Given the description of an element on the screen output the (x, y) to click on. 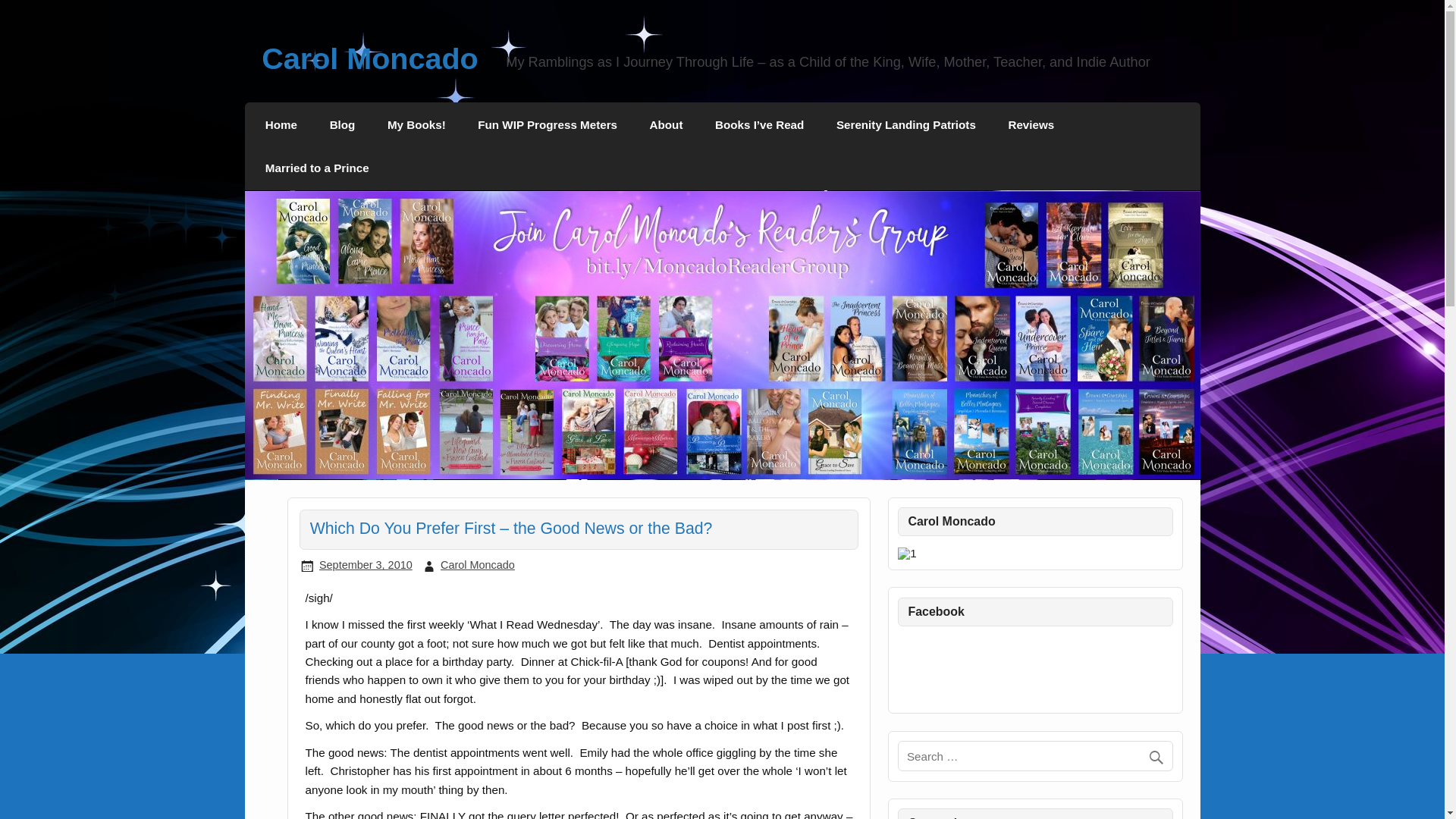
View all posts by Carol Moncado (478, 564)
My Books! (416, 124)
Home (281, 124)
Blog (342, 124)
3:34 pm (365, 564)
